Given the description of an element on the screen output the (x, y) to click on. 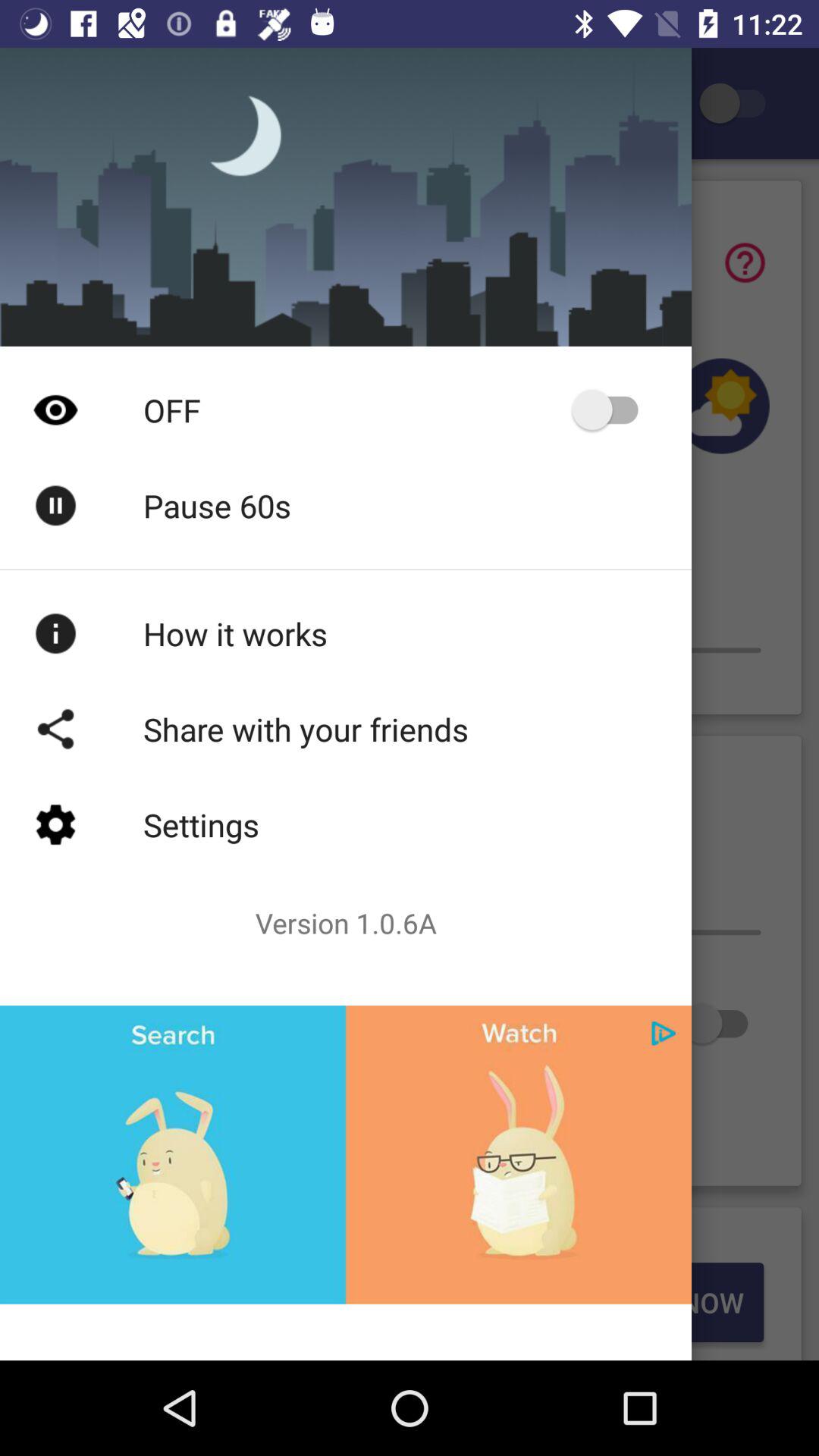
go to ask (744, 262)
